Given the description of an element on the screen output the (x, y) to click on. 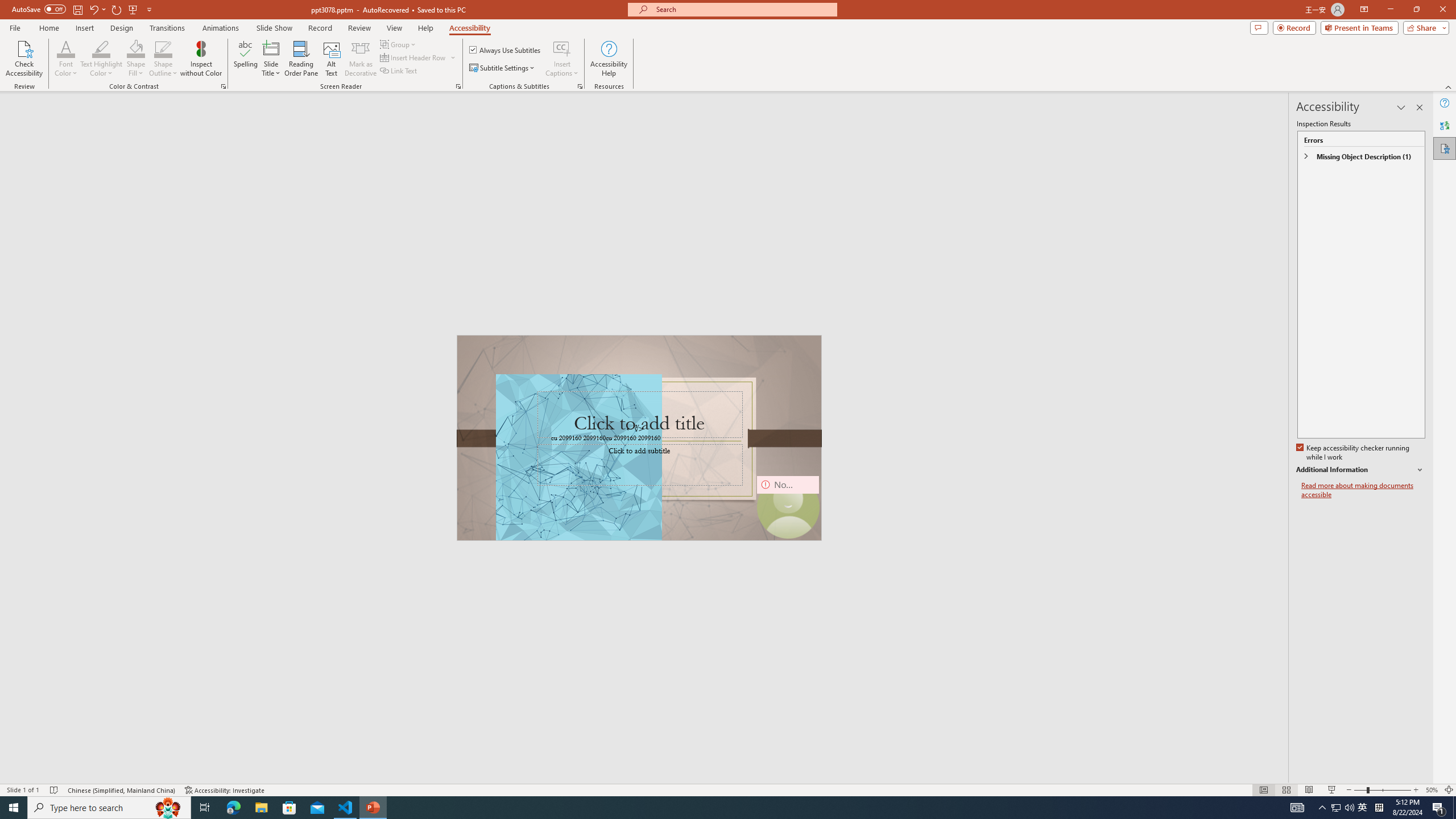
Link Text (399, 69)
Always Use Subtitles (505, 49)
